Given the description of an element on the screen output the (x, y) to click on. 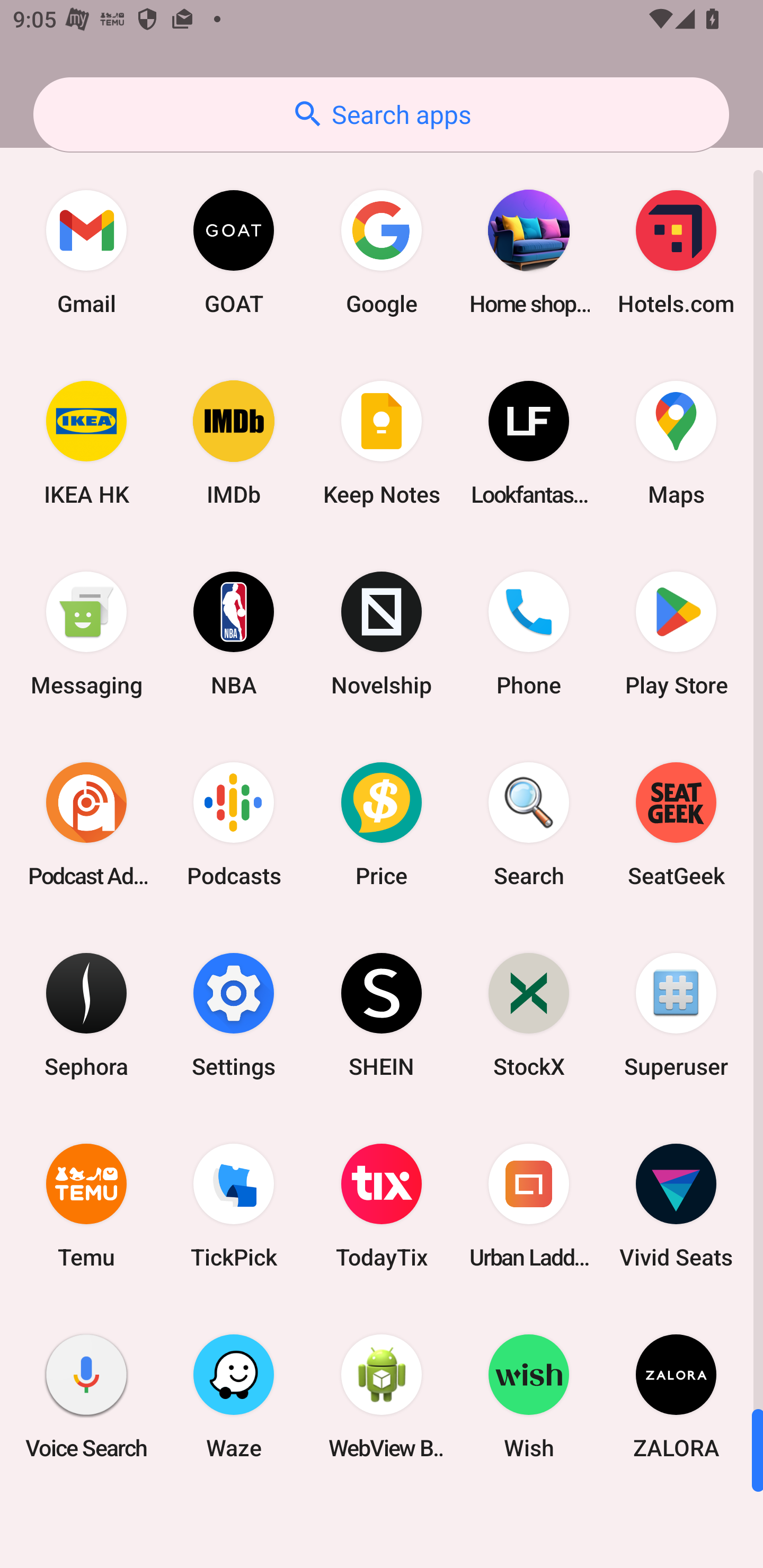
  Search apps (381, 114)
Gmail (86, 252)
GOAT (233, 252)
Google (381, 252)
Home shopping (528, 252)
Hotels.com (676, 252)
IKEA HK (86, 442)
IMDb (233, 442)
Keep Notes (381, 442)
Lookfantastic (528, 442)
Maps (676, 442)
Messaging (86, 633)
NBA (233, 633)
Novelship (381, 633)
Phone (528, 633)
Play Store (676, 633)
Podcast Addict (86, 823)
Podcasts (233, 823)
Price (381, 823)
Search (528, 823)
SeatGeek (676, 823)
Sephora (86, 1014)
Settings (233, 1014)
SHEIN (381, 1014)
StockX (528, 1014)
Superuser (676, 1014)
Temu (86, 1205)
TickPick (233, 1205)
TodayTix (381, 1205)
Urban Ladder (528, 1205)
Vivid Seats (676, 1205)
Voice Search (86, 1396)
Waze (233, 1396)
WebView Browser Tester (381, 1396)
Wish (528, 1396)
ZALORA (676, 1396)
